Given the description of an element on the screen output the (x, y) to click on. 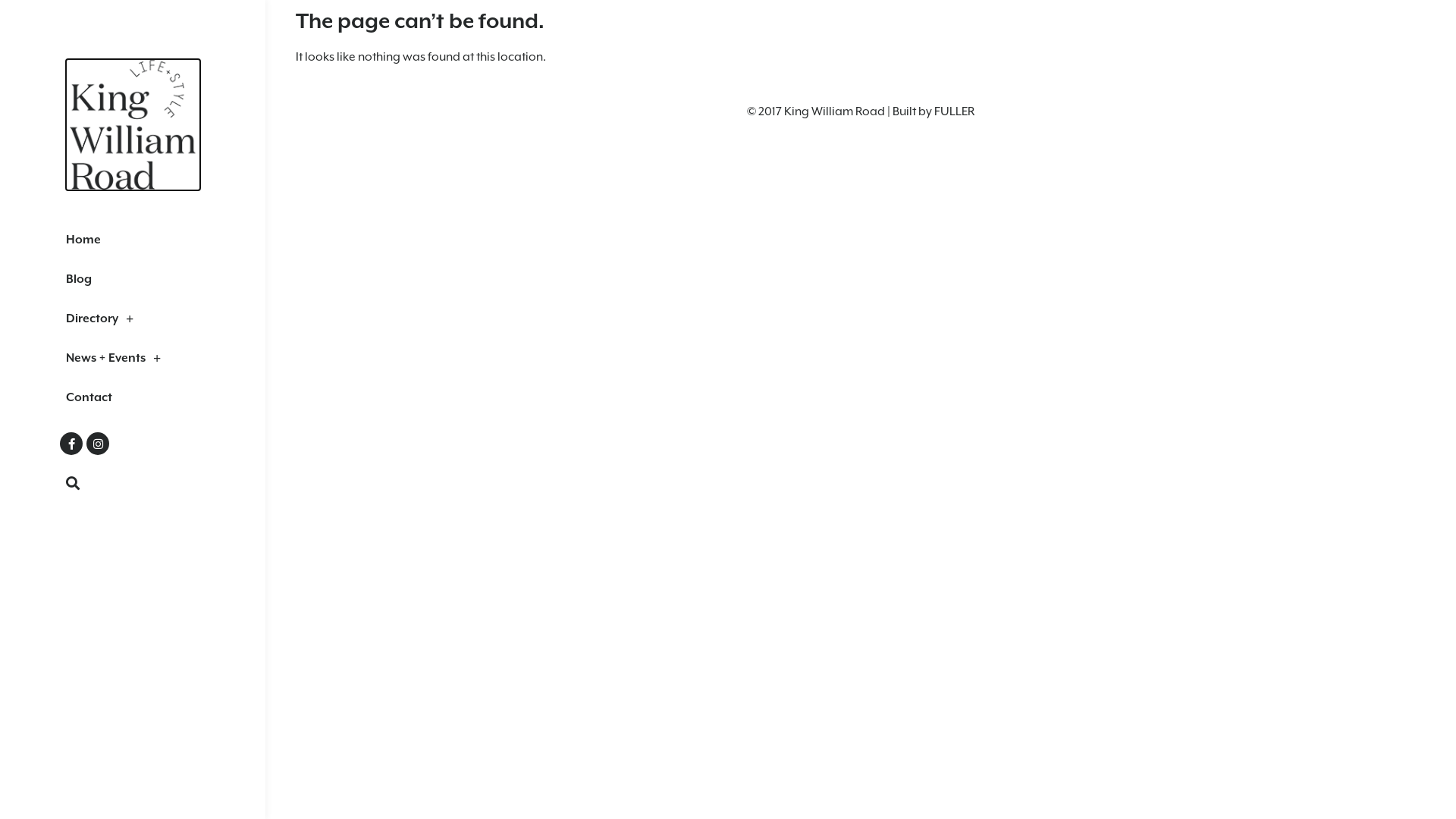
Blog Element type: text (132, 278)
Home Element type: text (132, 239)
FULLER Element type: text (954, 111)
Directory Element type: text (132, 318)
Contact Element type: text (132, 397)
News + Events Element type: text (132, 357)
